Given the description of an element on the screen output the (x, y) to click on. 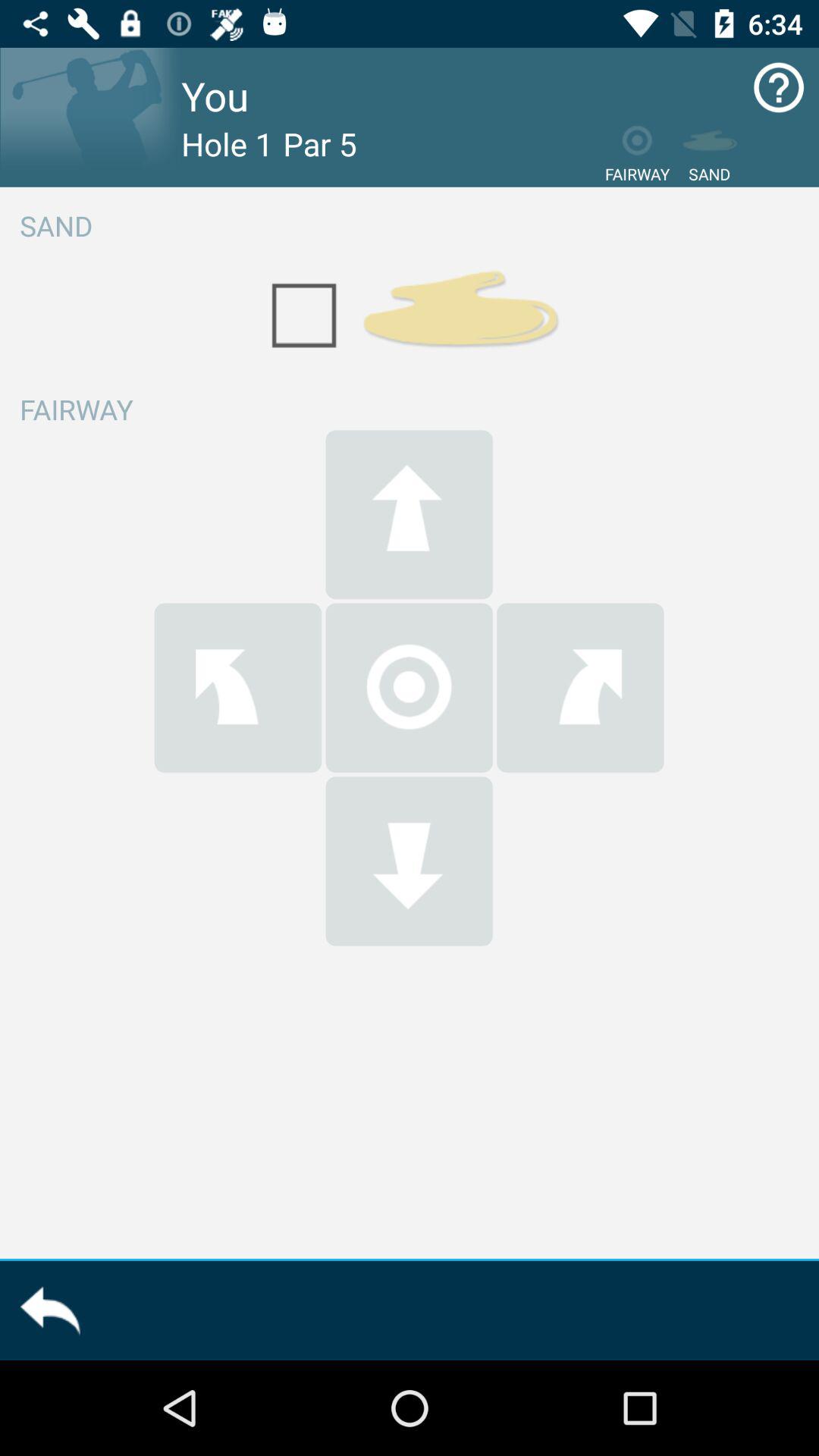
open how to (778, 87)
